Given the description of an element on the screen output the (x, y) to click on. 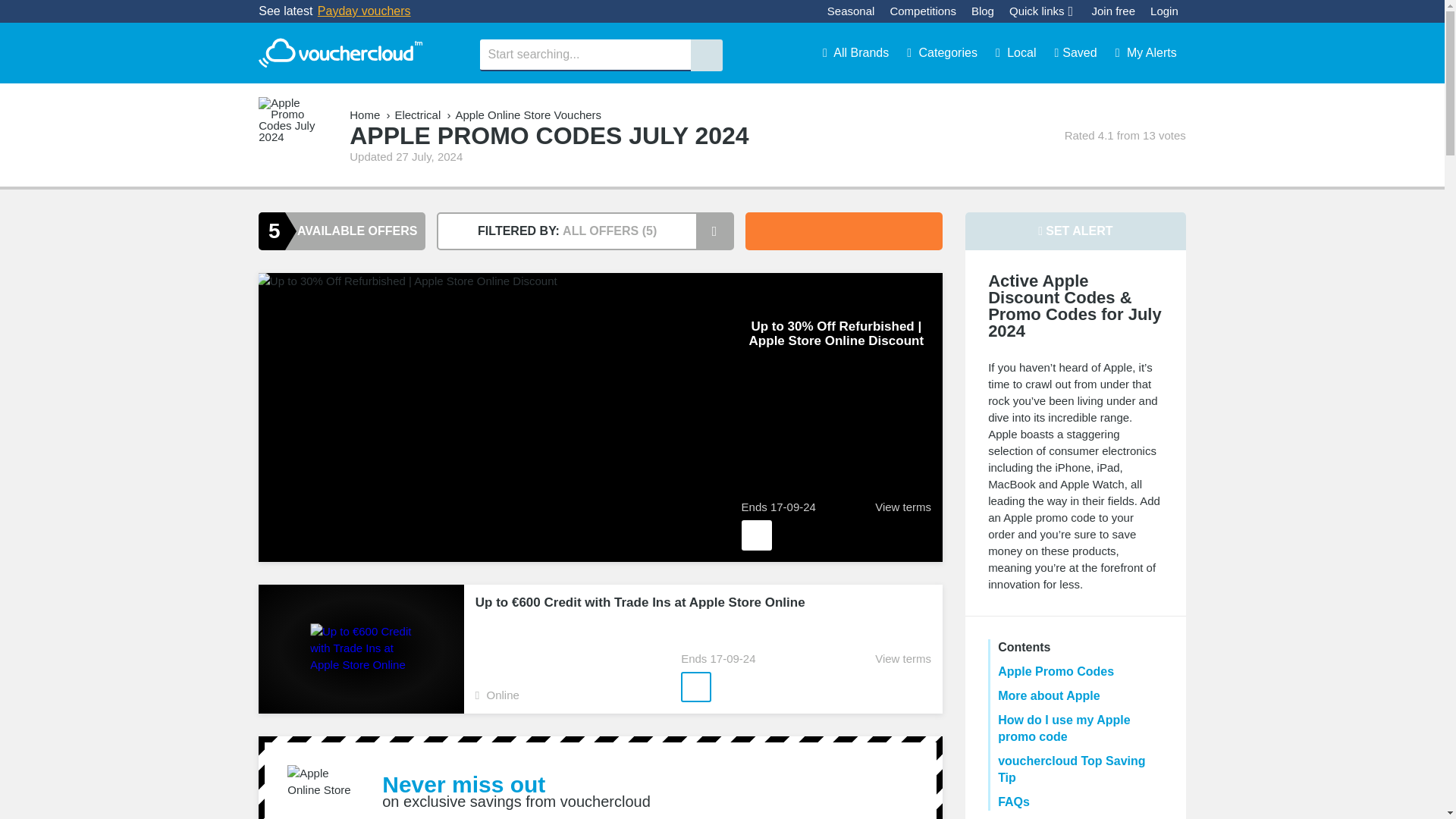
SEARCH (706, 55)
vouchercloud (340, 52)
